Given the description of an element on the screen output the (x, y) to click on. 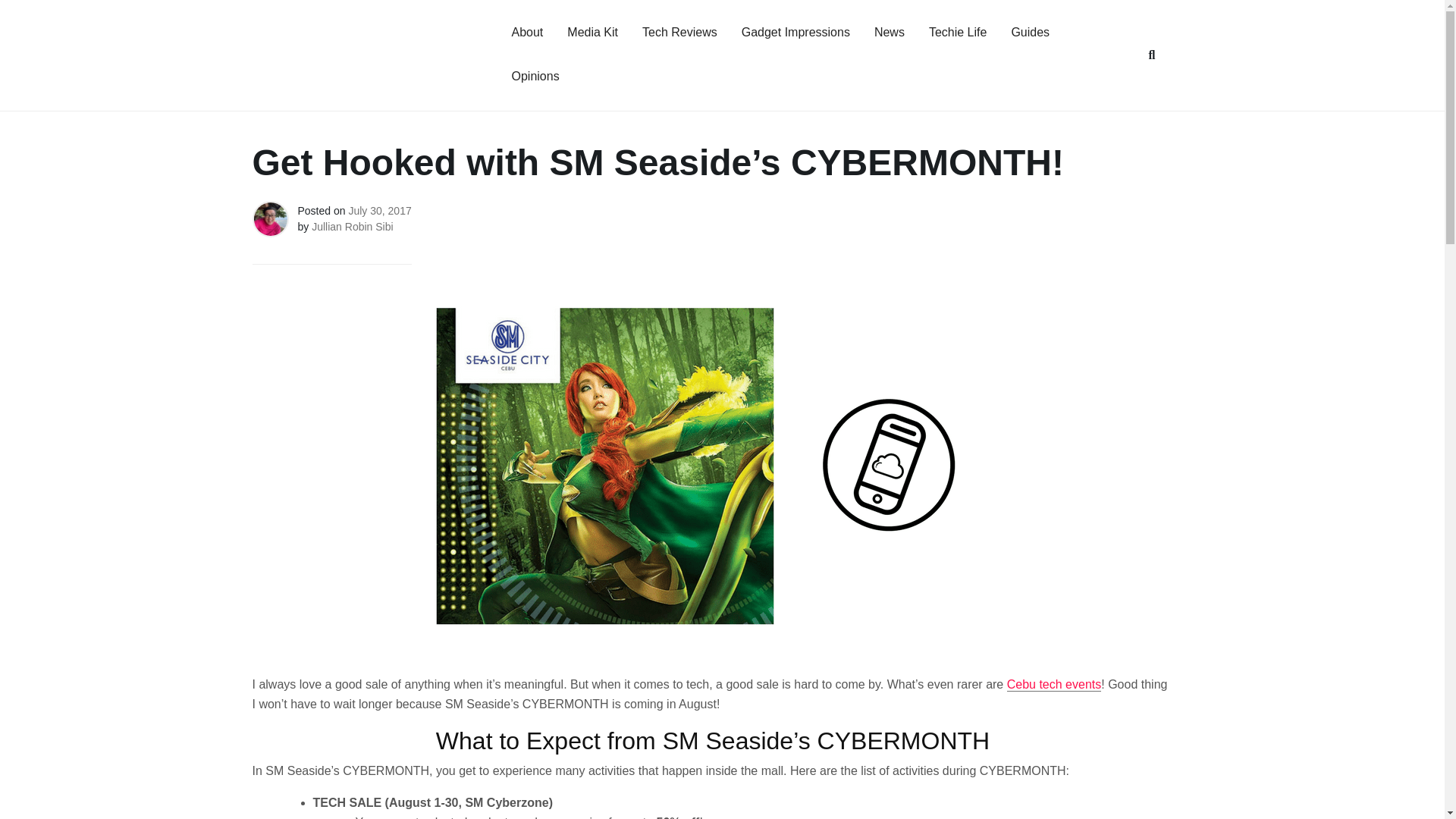
Tech Reviews (679, 33)
News (889, 33)
Guides (1029, 33)
Cebu tech events (1054, 684)
July 30, 2017 (378, 210)
Gadget Impressions (795, 33)
Media Kit (592, 33)
Opinions (534, 77)
About (526, 33)
Jullian Robin Sibi (352, 226)
Techie Life (957, 33)
Utterly Techie (295, 77)
